Given the description of an element on the screen output the (x, y) to click on. 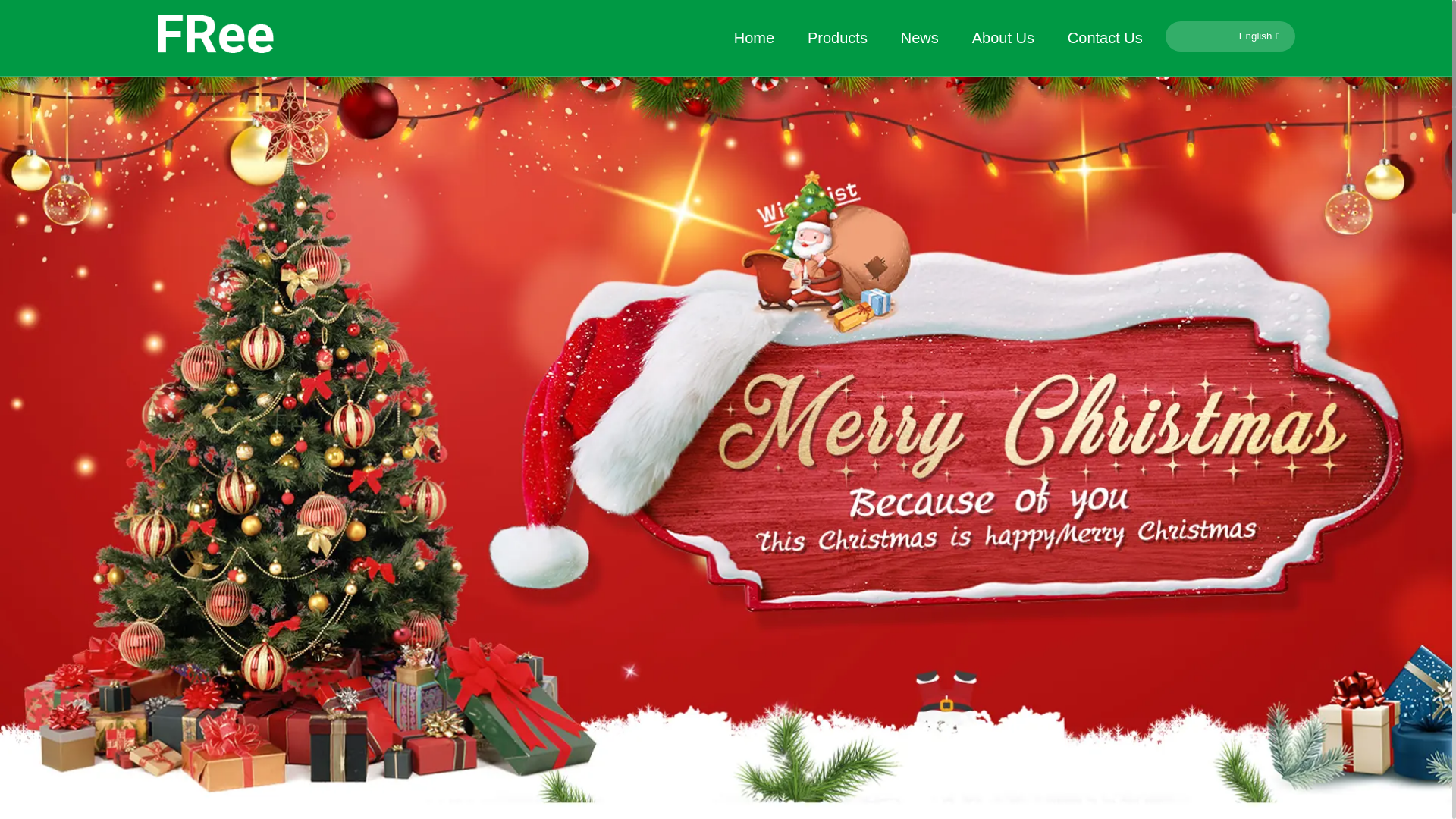
Home (753, 37)
English (1246, 35)
News (920, 37)
Contact Us (1104, 37)
About Us (1002, 37)
Products (837, 37)
